Given the description of an element on the screen output the (x, y) to click on. 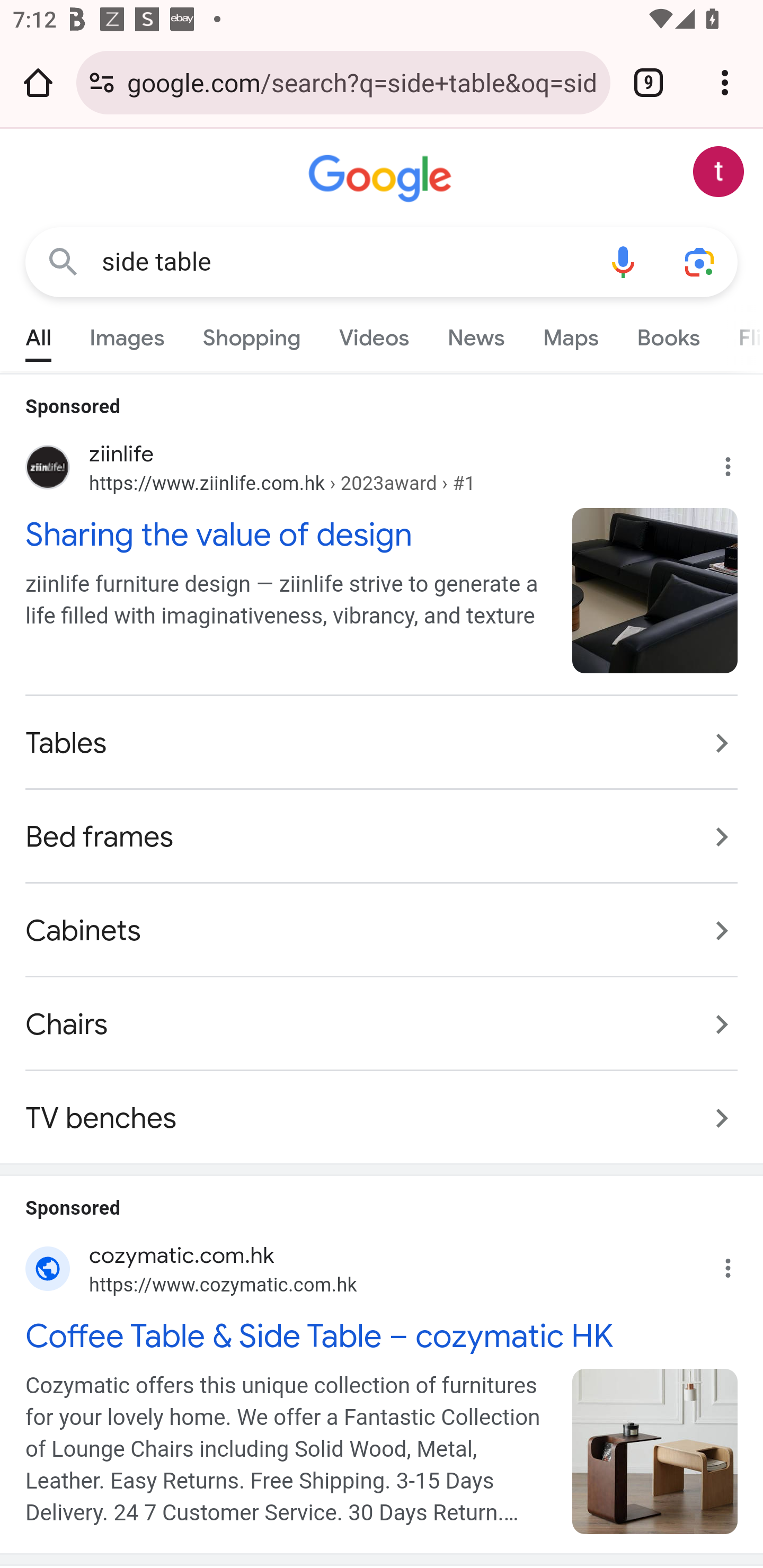
Open the home page (38, 82)
Connection is secure (101, 82)
Switch or close tabs (648, 82)
Customize and control Google Chrome (724, 82)
Google (381, 179)
Google Search (63, 262)
Search using your camera or photos (699, 262)
side table (343, 261)
Images (127, 333)
Shopping (252, 333)
Videos (373, 333)
News (475, 333)
Maps (570, 333)
Books (668, 333)
Why this ad? (738, 462)
Image from ziinlife.com.hk (654, 590)
Sharing the value of design (289, 533)
Tables (381, 743)
Bed frames (381, 837)
Cabinets (381, 930)
Chairs (381, 1023)
TV benches (381, 1108)
Why this ad? (738, 1262)
Coffee Table & Side Table – cozymatic HK (381, 1336)
Image from cozymatic.com.hk (654, 1451)
